Given the description of an element on the screen output the (x, y) to click on. 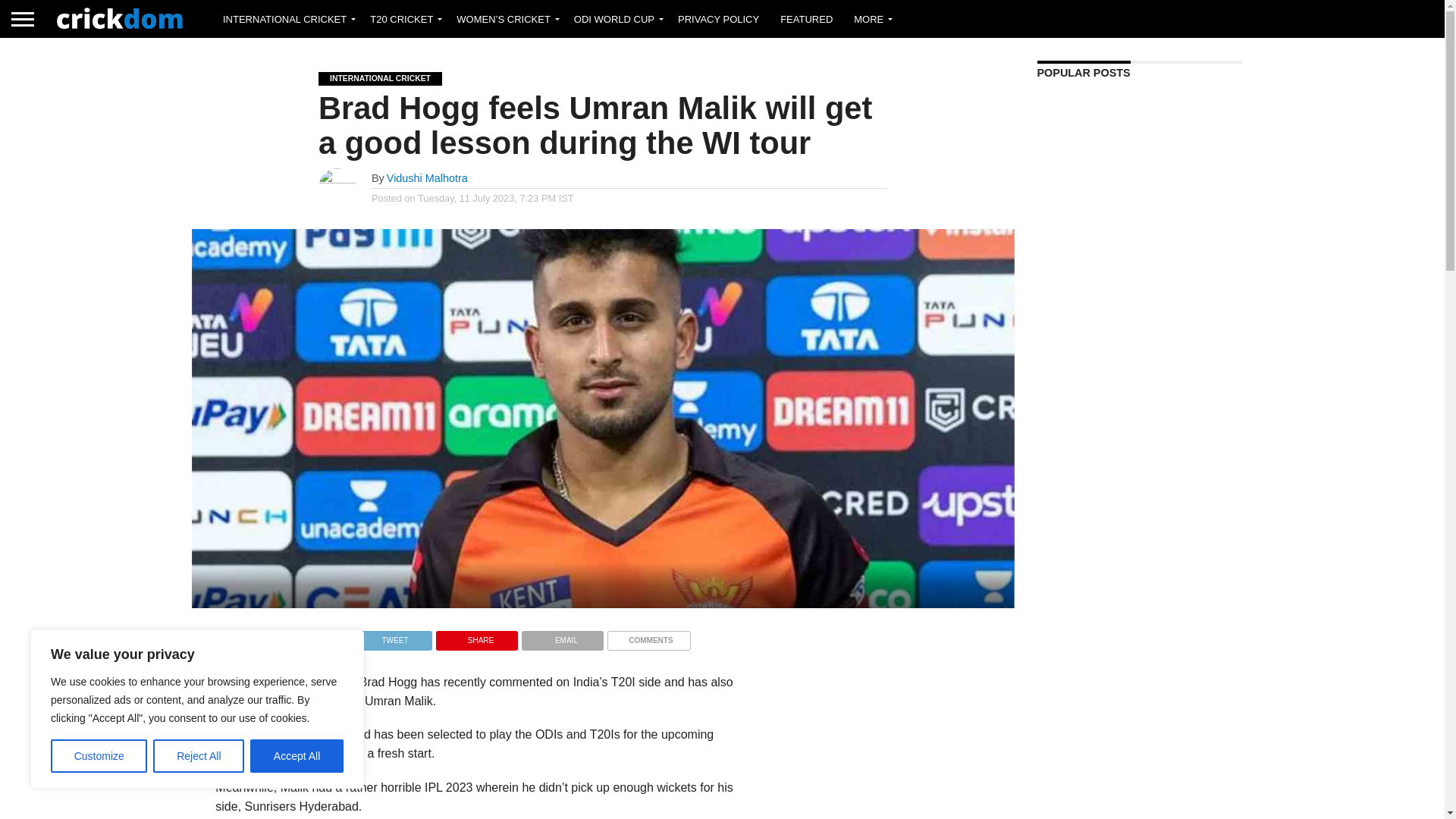
Tweet This Post (390, 635)
Pin This Post (476, 635)
Share on Facebook (305, 635)
Accept All (296, 756)
Reject All (198, 756)
Posts by Vidushi Malhotra (427, 177)
Customize (98, 756)
